Given the description of an element on the screen output the (x, y) to click on. 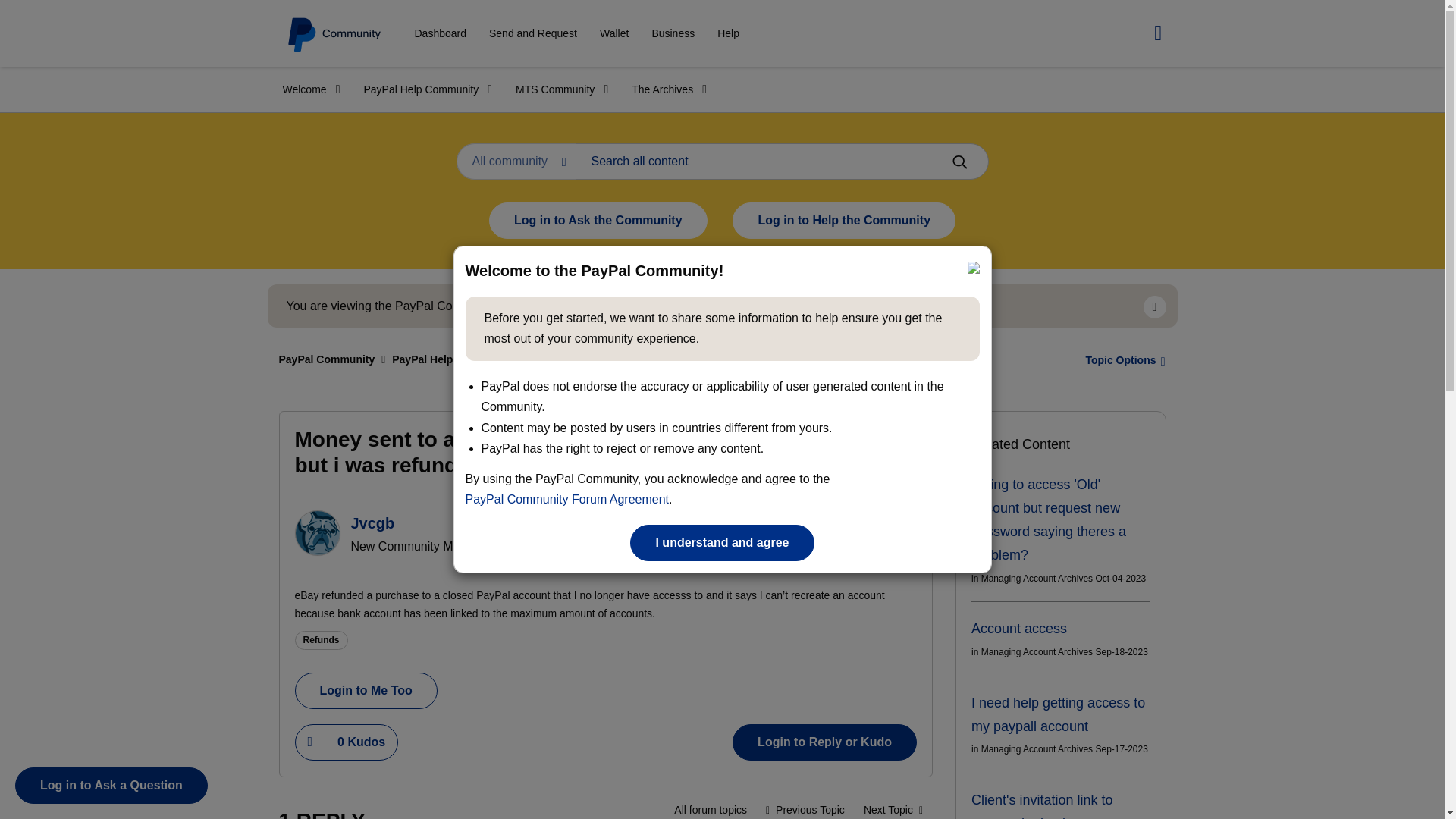
The total number of kudos this post has received. (360, 742)
Welcome (305, 89)
Wallet (613, 33)
Search (959, 161)
Transactions Archives (710, 807)
MTS Community (556, 89)
Business (672, 33)
Send and Request (532, 33)
The Archives (663, 89)
Show option menu (887, 522)
Help (728, 33)
Posted on (845, 561)
Dashboard (439, 33)
PayPal Help Community (422, 89)
Search (781, 161)
